Given the description of an element on the screen output the (x, y) to click on. 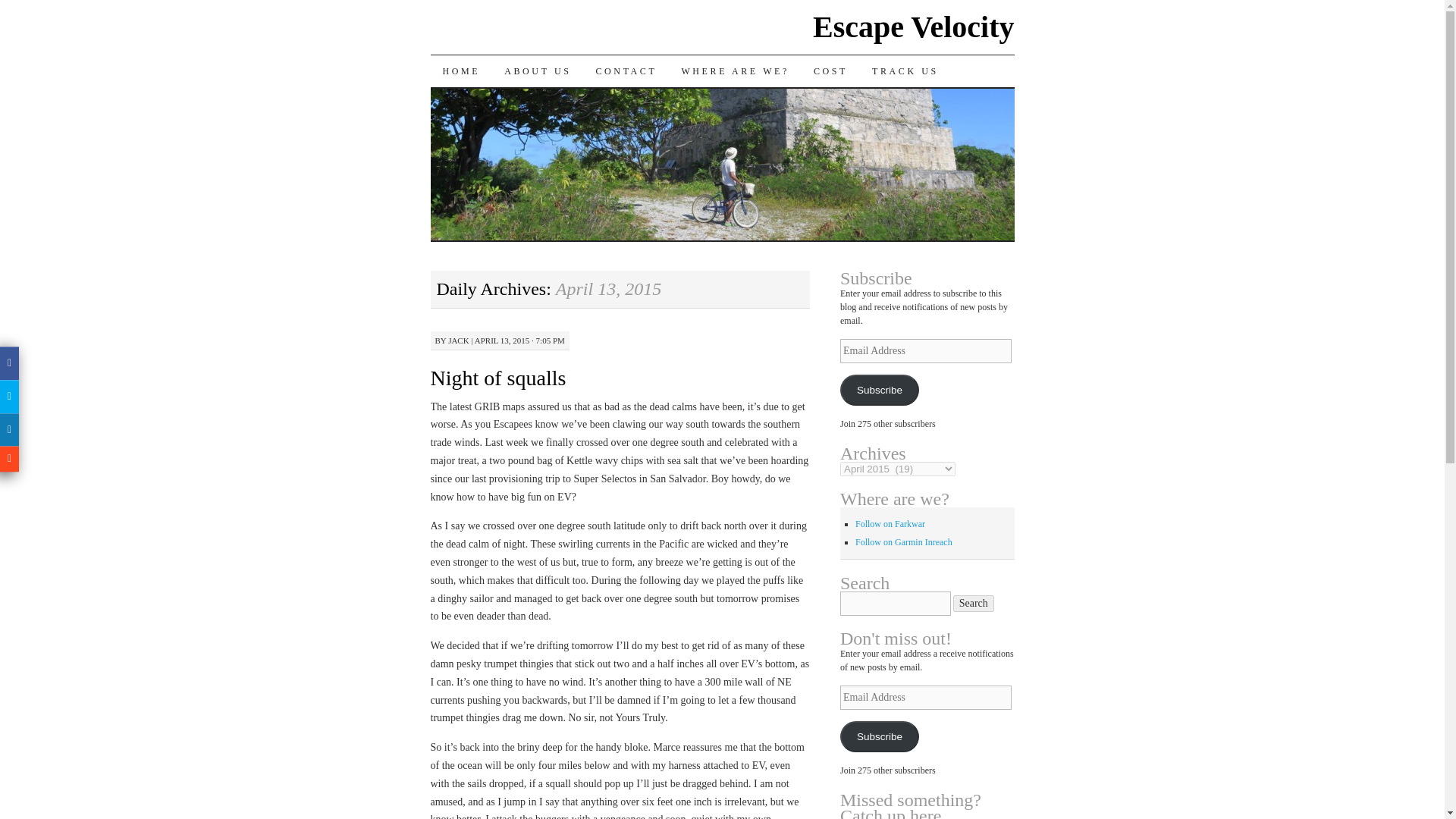
Subscribe (879, 389)
Escape Velocity (913, 26)
COST (831, 70)
Follow on Farkwar (890, 523)
TRACK US (905, 70)
Follow on Garmin Inreach (904, 542)
Night of squalls (498, 377)
Subscribe (879, 736)
Escape Velocity (913, 26)
JACK (458, 339)
Search (973, 603)
CONTACT (626, 70)
HOME (461, 70)
Search (973, 603)
WHERE ARE WE? (735, 70)
